Given the description of an element on the screen output the (x, y) to click on. 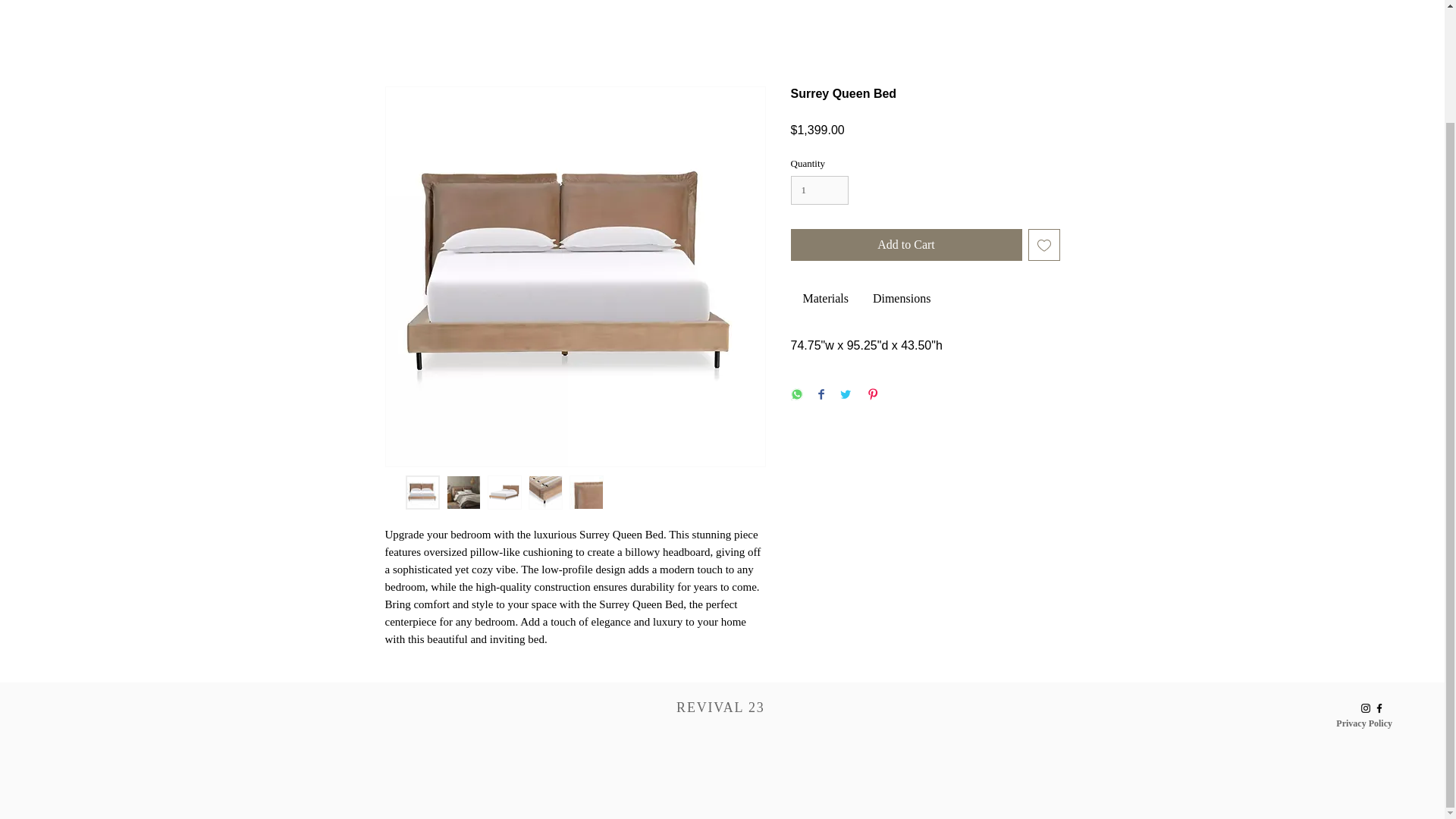
Use right and left arrows to navigate between tabs (825, 298)
Add to Cart (906, 245)
1 (818, 190)
REVIVAL 23 (721, 707)
Use right and left arrows to navigate between tabs (900, 298)
Privacy Policy (1363, 723)
